Given the description of an element on the screen output the (x, y) to click on. 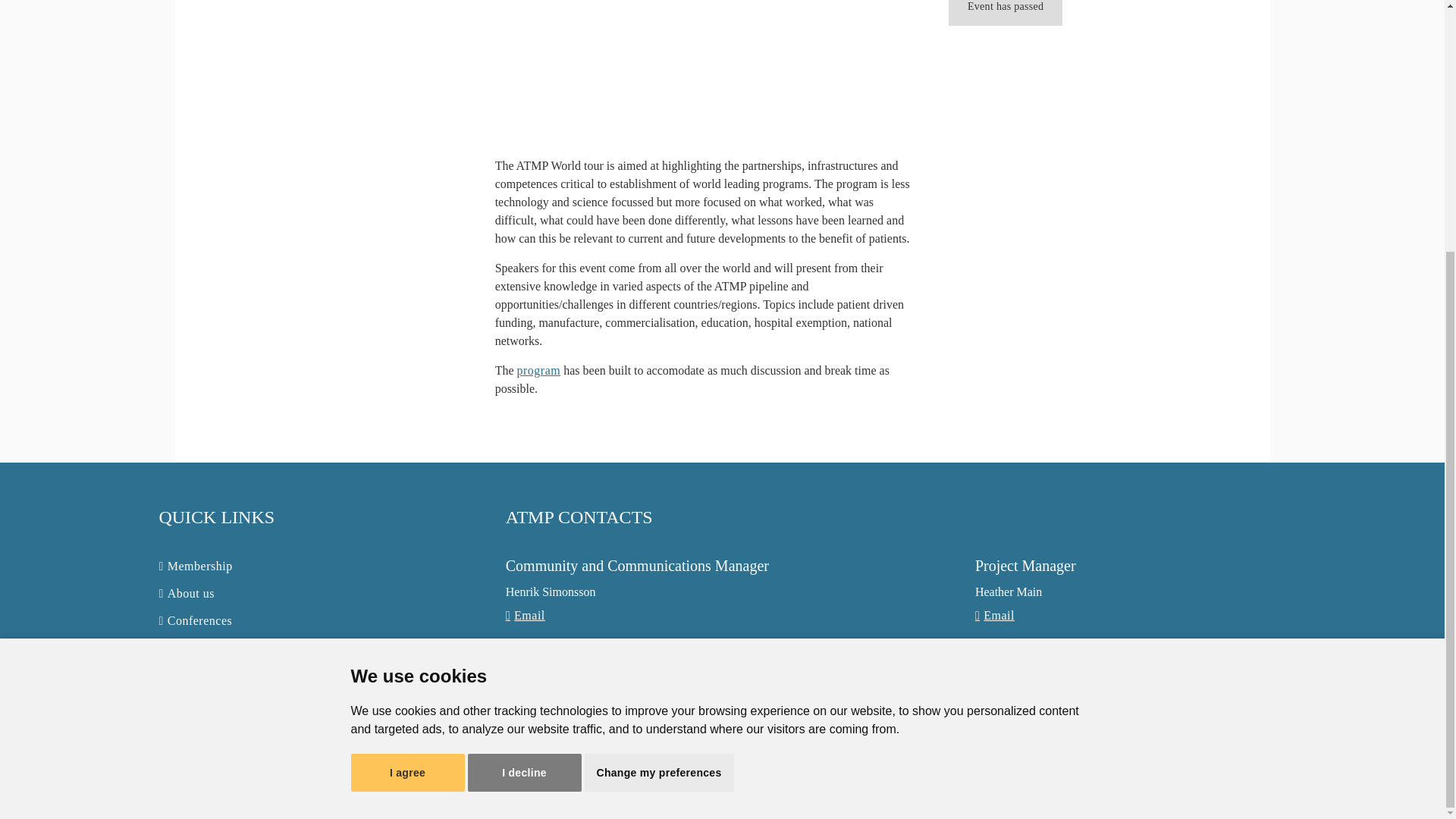
I decline (523, 418)
Change my preferences (658, 418)
I agree (407, 418)
